Given the description of an element on the screen output the (x, y) to click on. 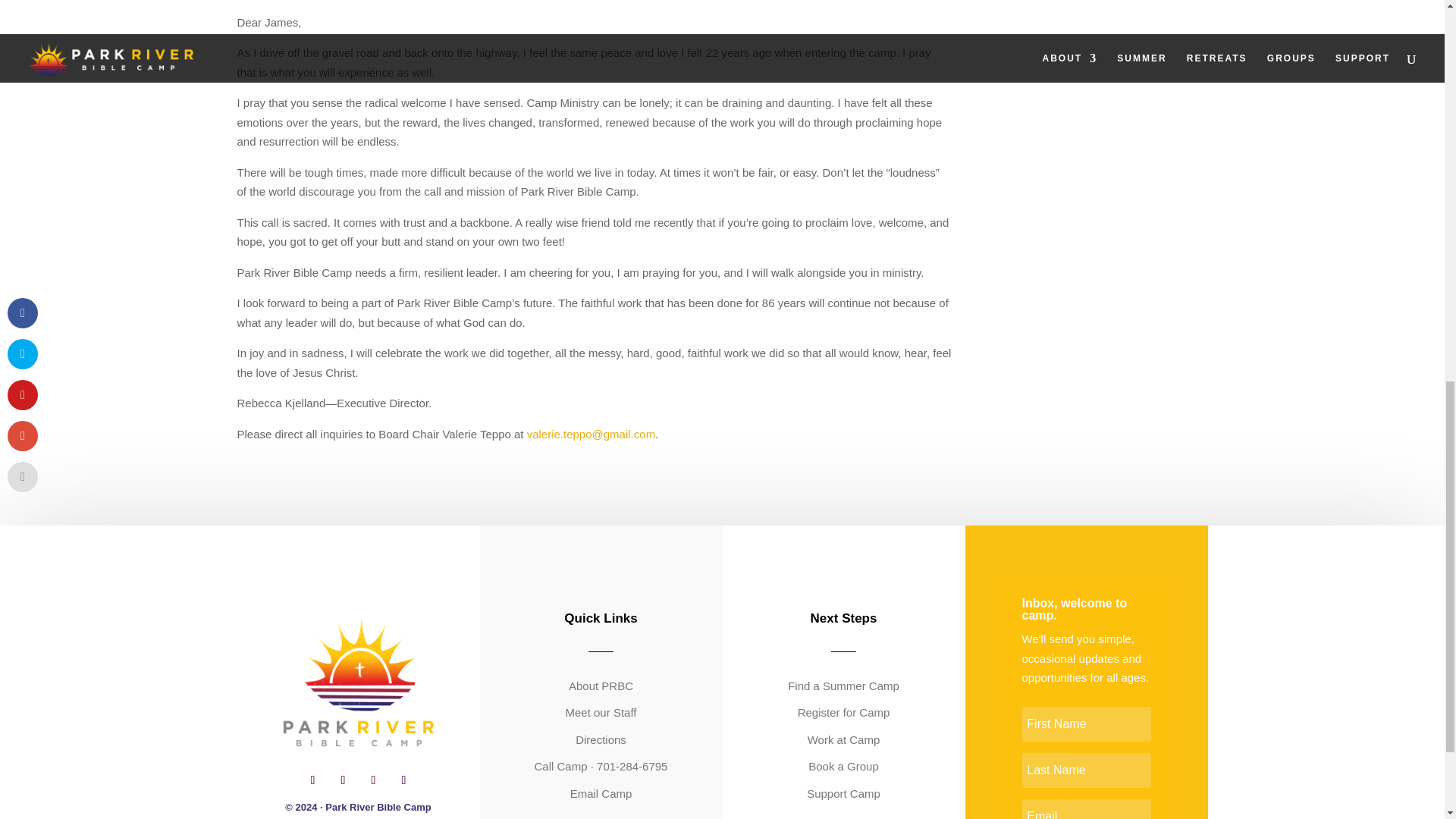
Follow on Facebook (311, 780)
PRBC Final Square 4000x1000 (358, 684)
Follow on Instagram (342, 780)
Follow on Youtube (402, 780)
Follow on X (373, 780)
